Given the description of an element on the screen output the (x, y) to click on. 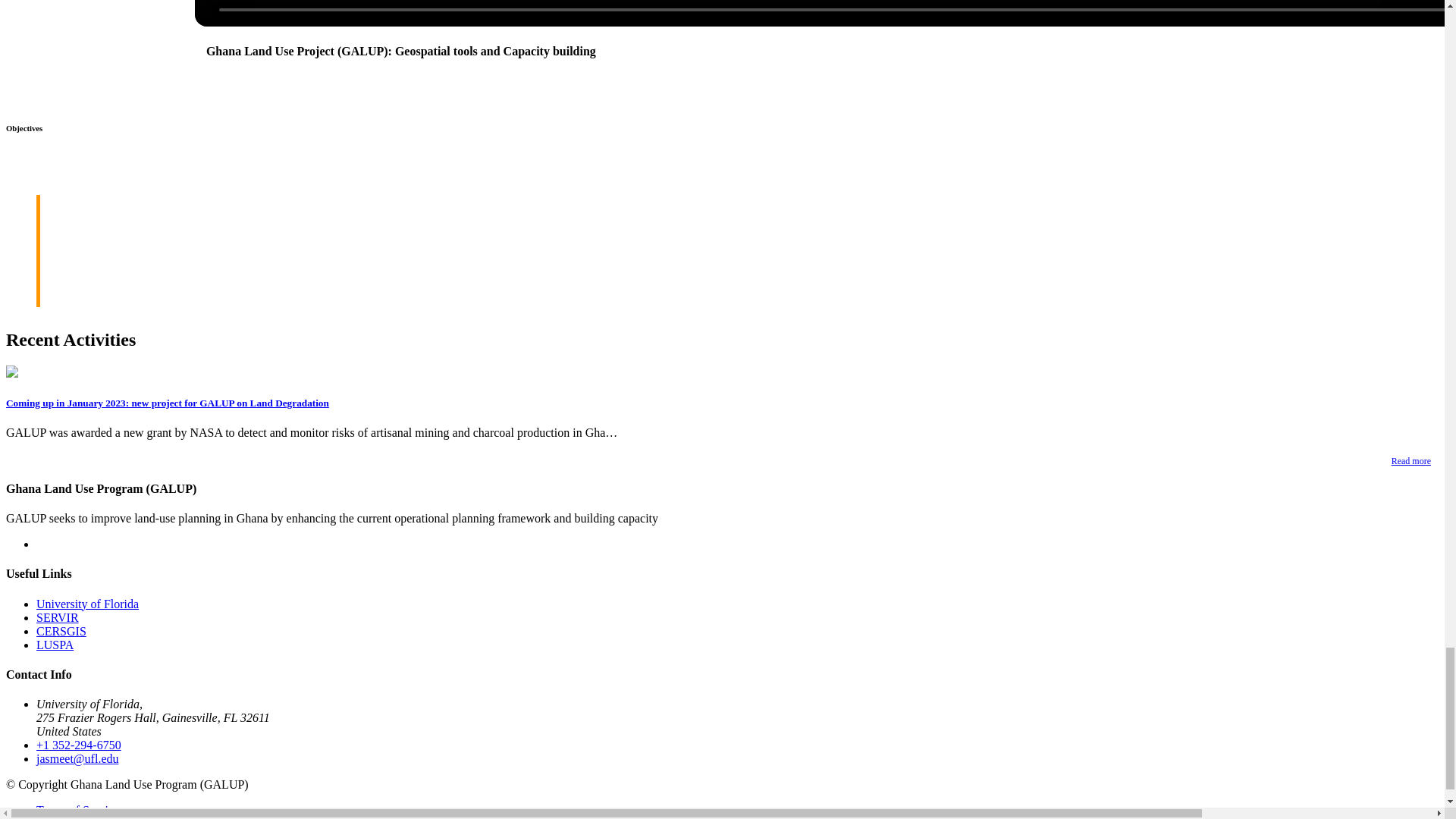
SERVIR (57, 617)
Read more (1411, 461)
University of Florida (87, 603)
